Given the description of an element on the screen output the (x, y) to click on. 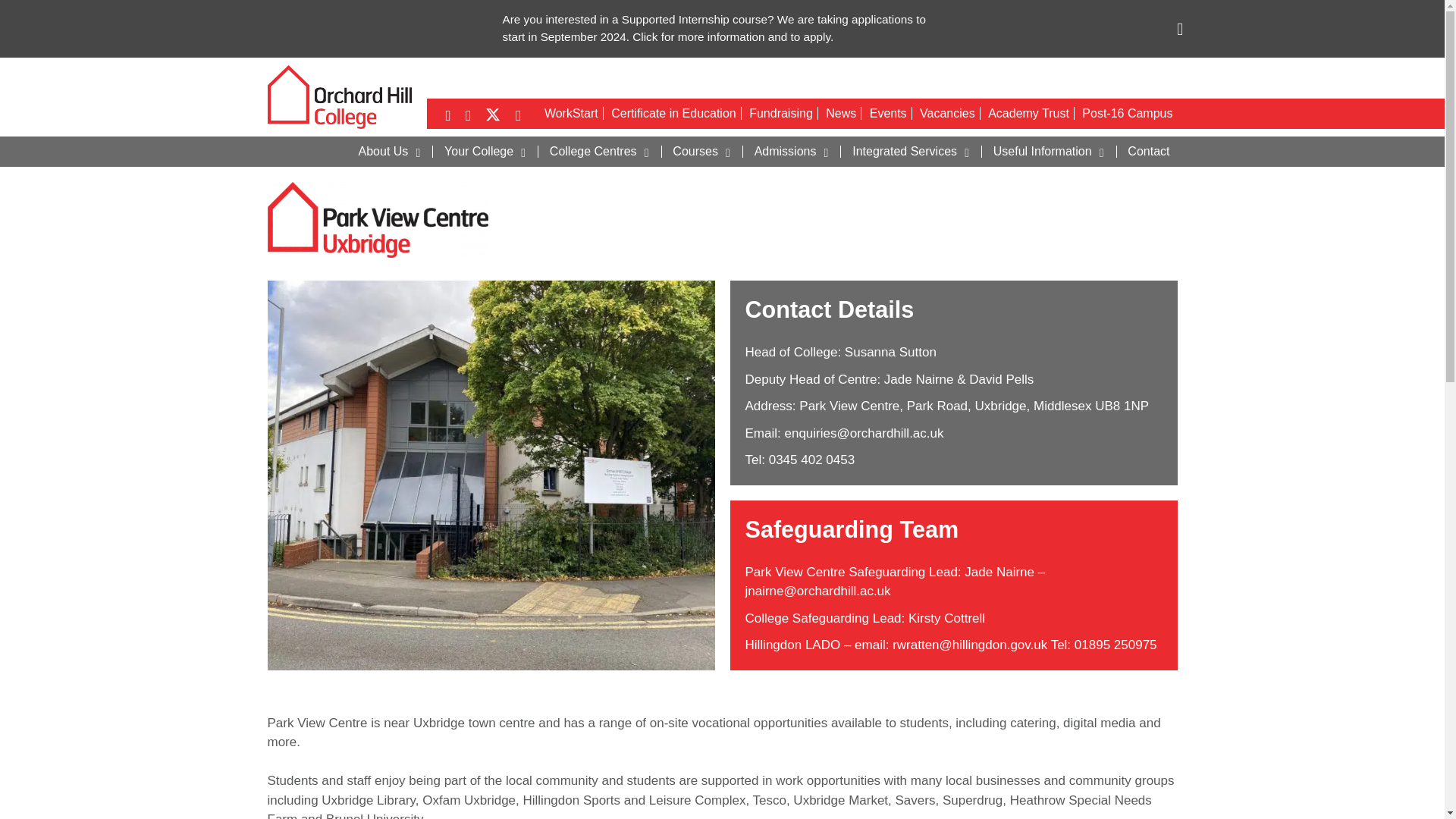
Courses (703, 151)
Contact (1147, 151)
College Centres (601, 151)
Useful Information (1050, 151)
Admissions (793, 151)
Certificate in Education (674, 113)
Events (888, 113)
Your College (487, 151)
About Us (391, 151)
News (841, 113)
Fundraising (781, 113)
Post-16 Campus (1126, 113)
Integrated Services (912, 151)
Academy Trust (1029, 113)
